Given the description of an element on the screen output the (x, y) to click on. 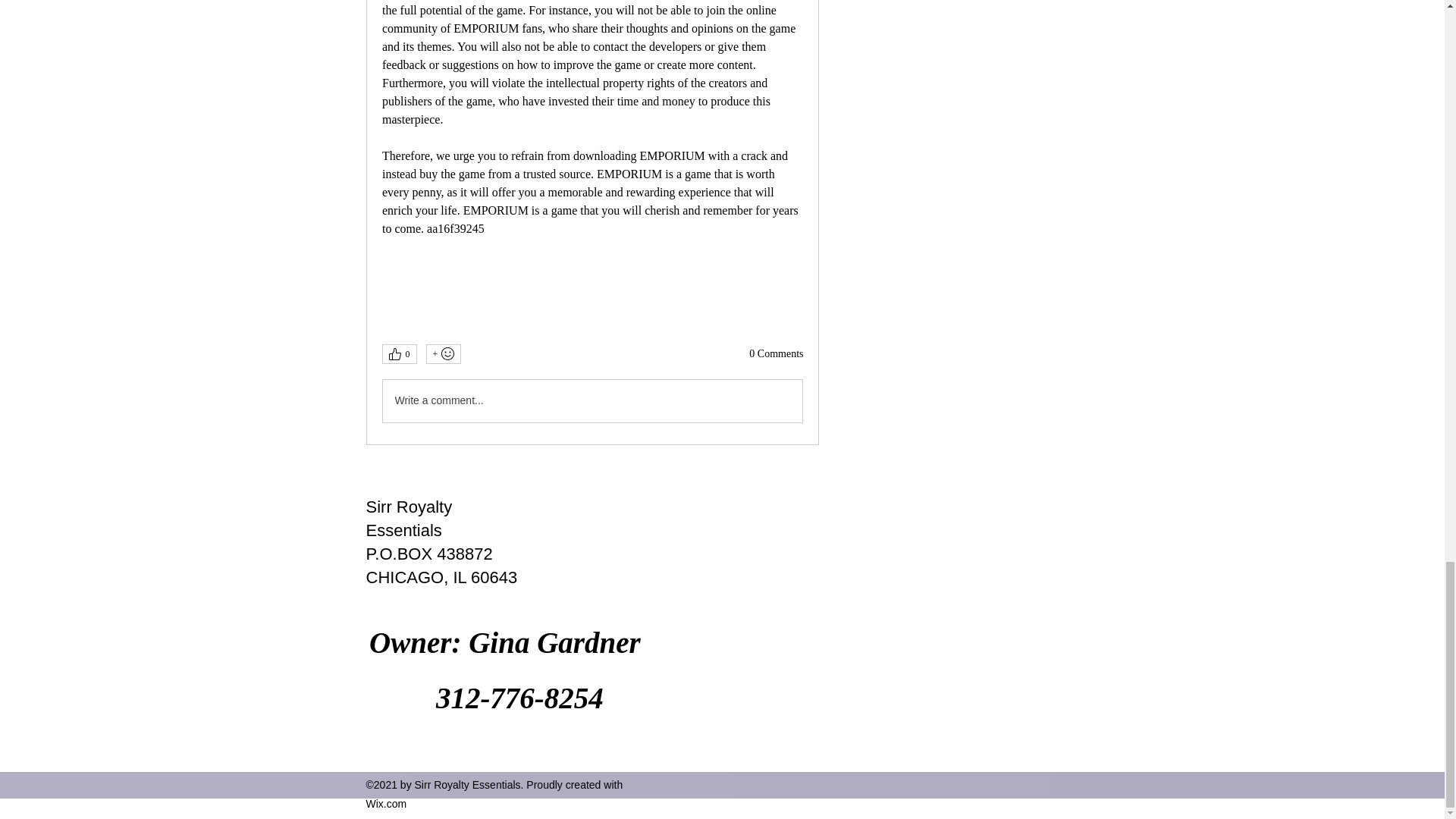
Sirr Royalty Essentials (408, 518)
0 Comments (776, 353)
Write a comment... (591, 401)
